Given the description of an element on the screen output the (x, y) to click on. 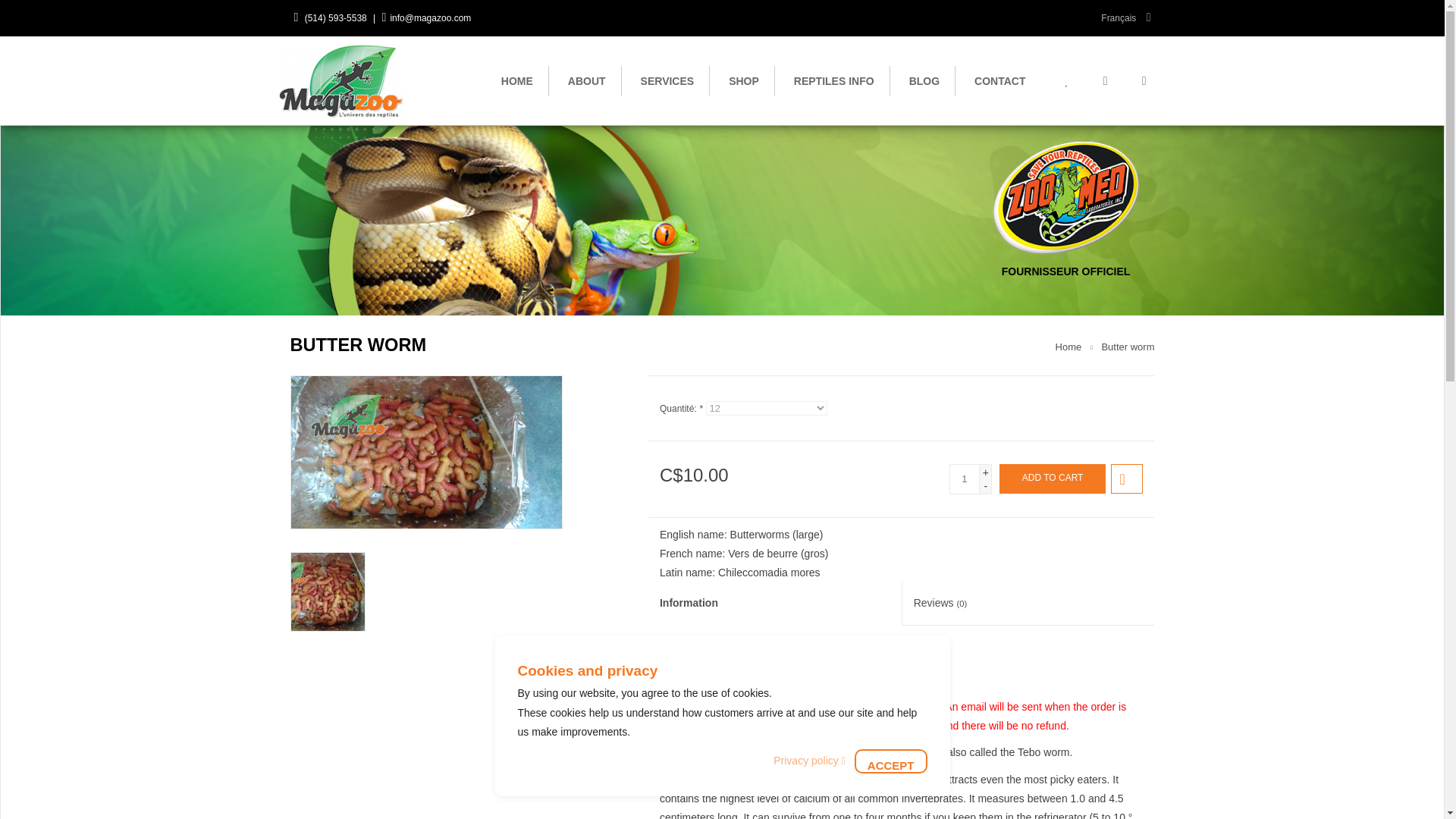
REPTILES INFO (833, 80)
Magazoo, the Universe of Reptiles (346, 80)
SHOP (743, 80)
CONTACT (1000, 80)
SERVICES (668, 80)
BLOG (924, 80)
1 (964, 479)
ABOUT (587, 80)
Cart (1104, 80)
HOME (517, 80)
